Given the description of an element on the screen output the (x, y) to click on. 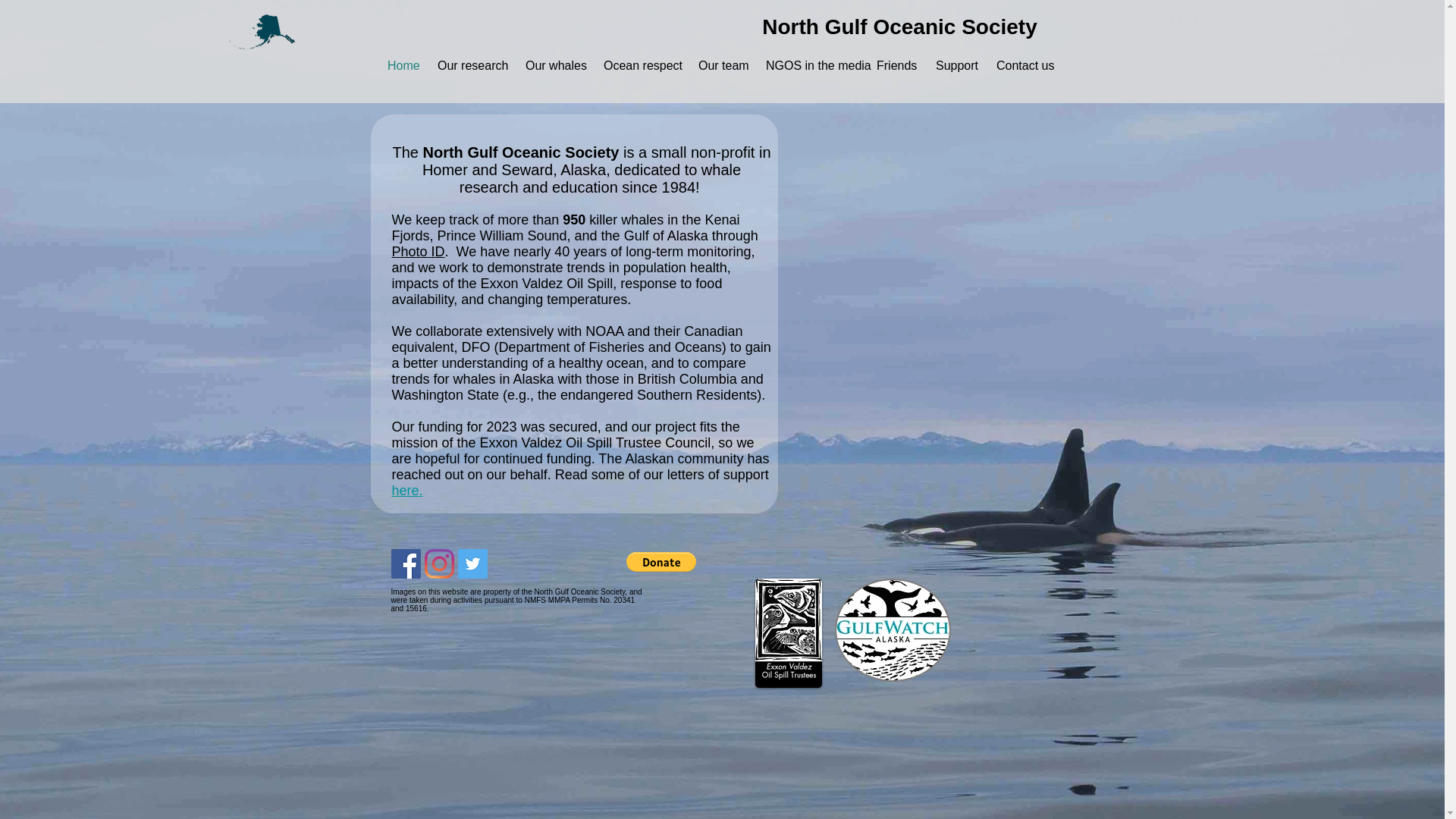
Friends (894, 65)
Contact us (1023, 65)
Embedded Content (668, 567)
Our team (720, 65)
NGOS in the media (809, 65)
Home (400, 65)
Photo ID (417, 251)
here. (406, 490)
Ocean respect (639, 65)
Support (954, 65)
